Given the description of an element on the screen output the (x, y) to click on. 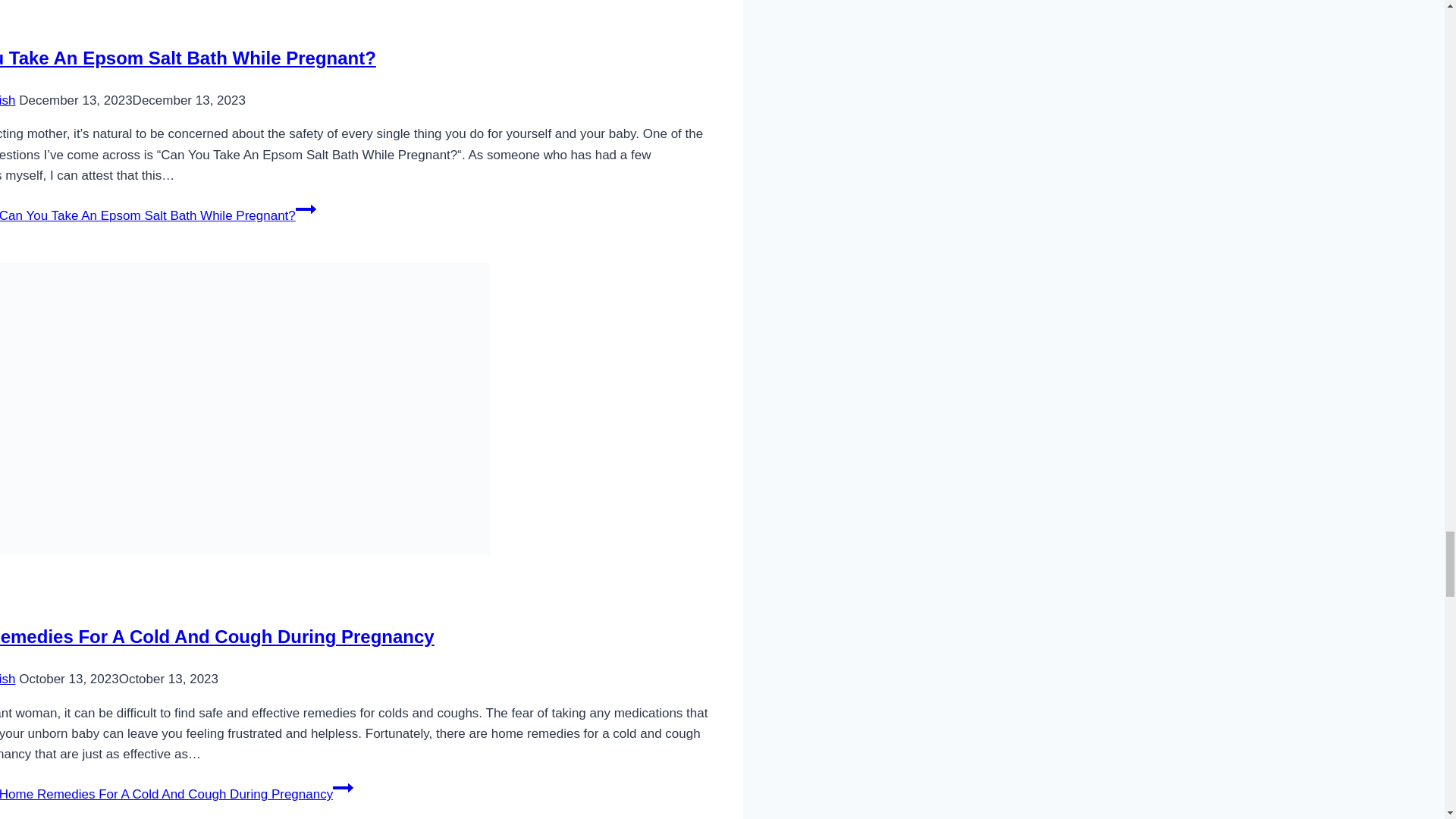
Continue (343, 787)
Continue (305, 209)
Can You Take An Epsom Salt Bath While Pregnant? (187, 57)
Mariyanzish (8, 100)
